Given the description of an element on the screen output the (x, y) to click on. 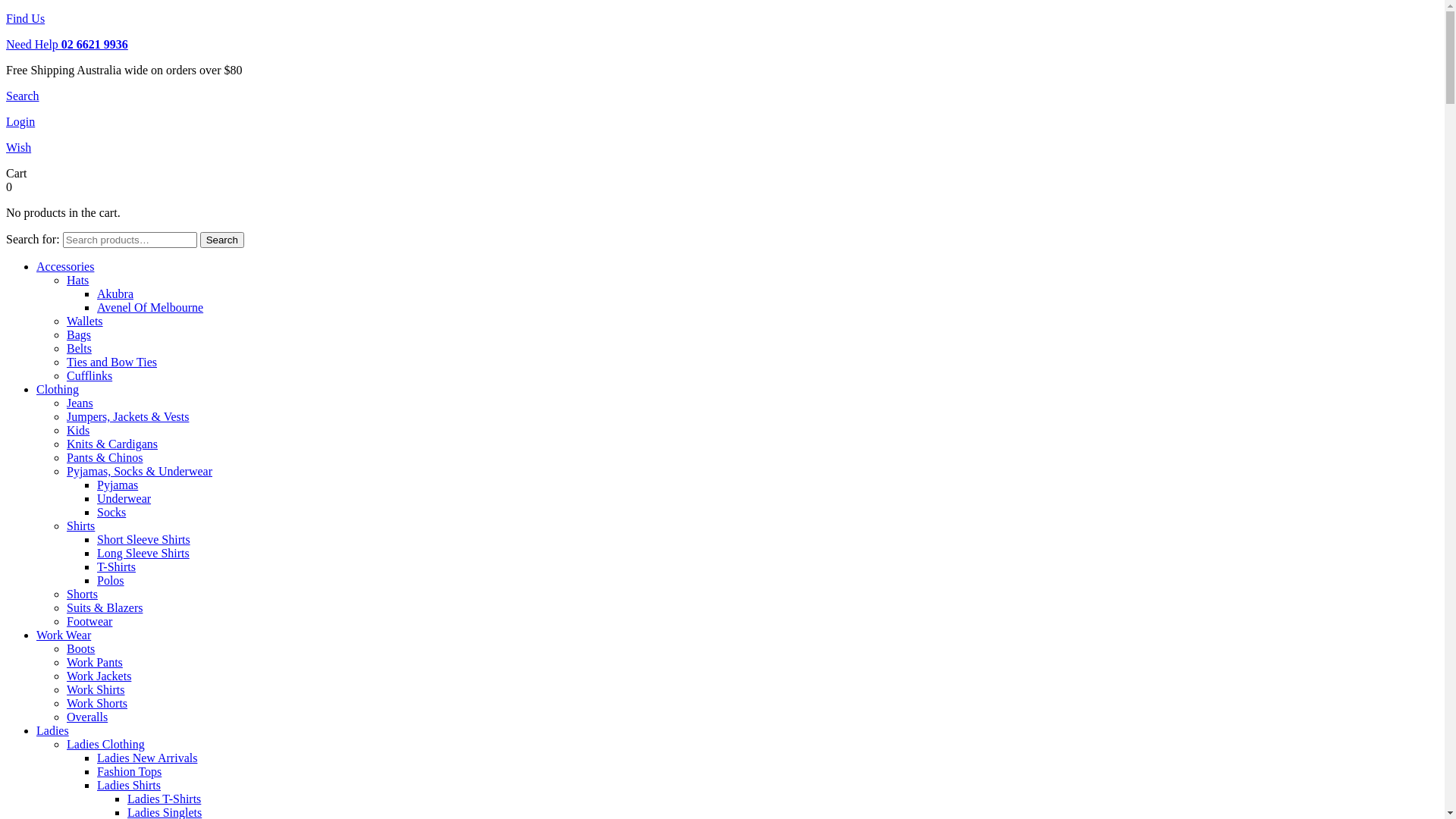
Underwear Element type: text (123, 498)
Search Element type: text (22, 95)
Ladies T-Shirts Element type: text (163, 798)
Kids Element type: text (77, 429)
Login Element type: text (20, 121)
Avenel Of Melbourne Element type: text (150, 307)
Socks Element type: text (111, 511)
Cart
0 Element type: text (722, 180)
Ties and Bow Ties Element type: text (111, 361)
Work Jackets Element type: text (98, 675)
Belts Element type: text (78, 348)
Suits & Blazers Element type: text (104, 607)
Work Shirts Element type: text (95, 689)
Jeans Element type: text (79, 402)
Jumpers, Jackets & Vests Element type: text (127, 416)
Search Element type: text (222, 239)
Ladies New Arrivals Element type: text (147, 757)
Fashion Tops Element type: text (129, 771)
Knits & Cardigans Element type: text (111, 443)
Pyjamas, Socks & Underwear Element type: text (139, 470)
Work Shorts Element type: text (96, 702)
Wish Element type: text (18, 147)
Need Help 02 6621 9936 Element type: text (67, 43)
T-Shirts Element type: text (116, 566)
Wallets Element type: text (84, 320)
Work Wear Element type: text (63, 634)
Ladies Shirts Element type: text (128, 784)
Shirts Element type: text (80, 525)
Pants & Chinos Element type: text (104, 457)
Overalls Element type: text (86, 716)
Clothing Element type: text (57, 388)
Find Us Element type: text (25, 18)
Bags Element type: text (78, 334)
Work Pants Element type: text (94, 661)
Long Sleeve Shirts Element type: text (143, 552)
Shorts Element type: text (81, 593)
Short Sleeve Shirts Element type: text (143, 539)
Cufflinks Element type: text (89, 375)
Hats Element type: text (77, 279)
Footwear Element type: text (89, 621)
Accessories Element type: text (65, 266)
Polos Element type: text (110, 580)
Akubra Element type: text (115, 293)
Pyjamas Element type: text (117, 484)
Boots Element type: text (80, 648)
Ladies Element type: text (52, 730)
Ladies Clothing Element type: text (105, 743)
